Given the description of an element on the screen output the (x, y) to click on. 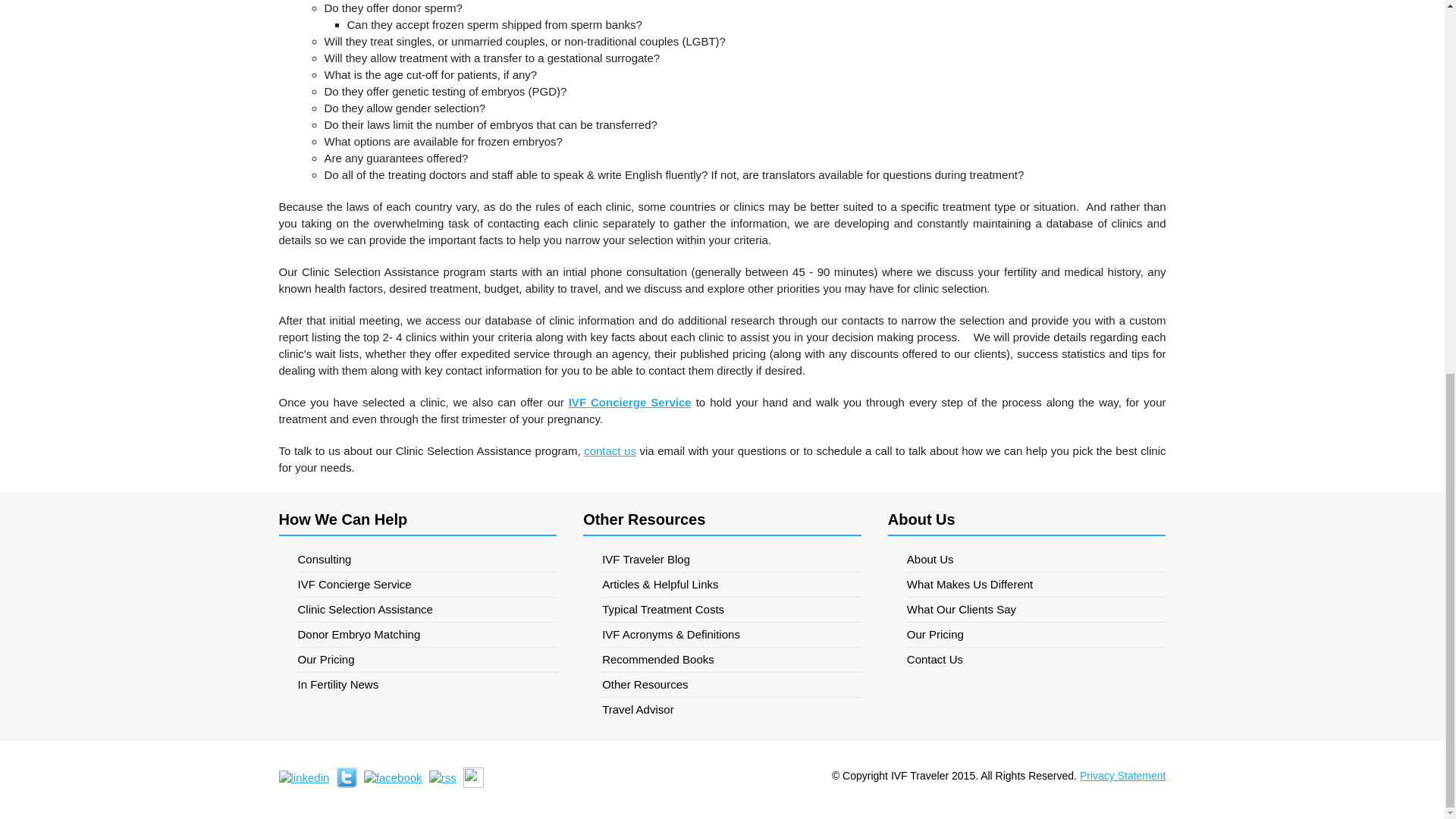
IVF Concierge Service (630, 401)
Donor Embryo Matching (426, 634)
In Fertility News (426, 684)
Clinic Selection Assistance (426, 609)
contact us (609, 450)
IVF Traveler Blog (731, 559)
Consulting (426, 559)
IVF Concierge Service (426, 584)
facebook (393, 775)
Our Pricing (426, 659)
Linked In (304, 775)
